Given the description of an element on the screen output the (x, y) to click on. 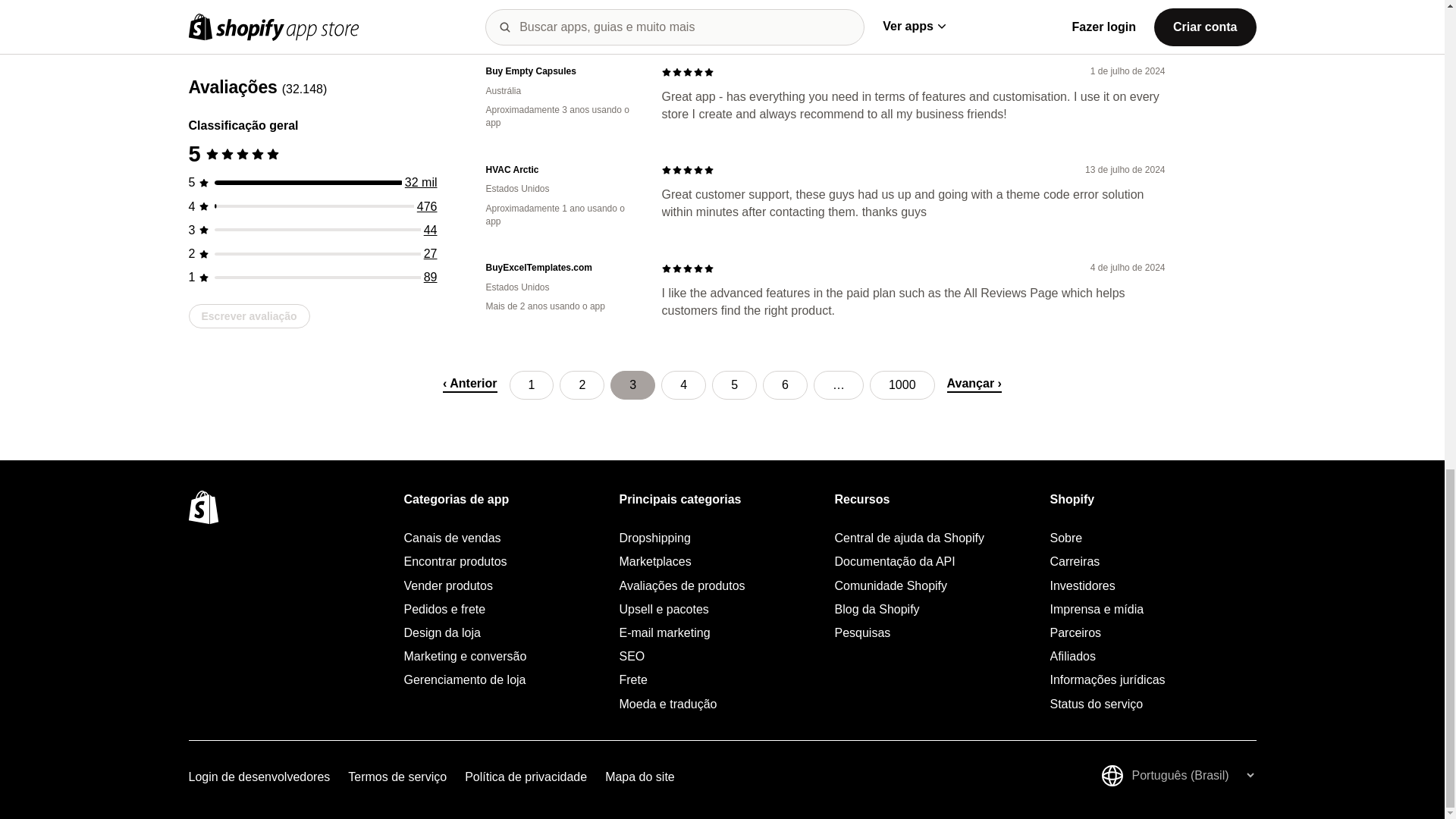
BuyExcelTemplates.com (560, 267)
Buy Empty Capsules (560, 71)
HVAC Arctic (560, 169)
